Given the description of an element on the screen output the (x, y) to click on. 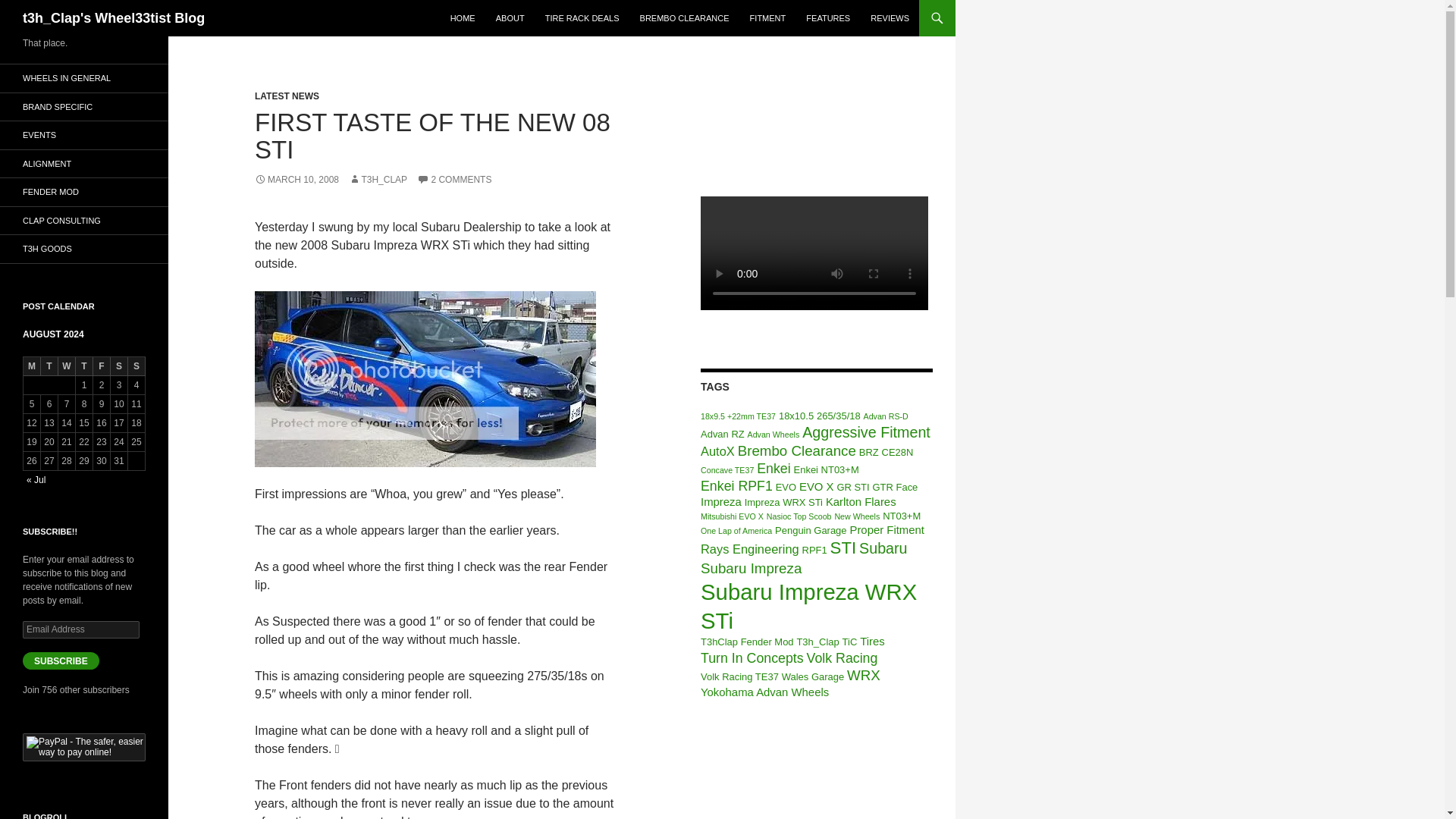
AutoX (717, 450)
BREMBO CLEARANCE (684, 18)
Advan RS-D (885, 415)
FITMENT (767, 18)
x (424, 378)
18x10.5 (795, 415)
Wednesday (66, 366)
TIRE RACK DEALS (581, 18)
FEATURES (827, 18)
2 COMMENTS (454, 179)
